Given the description of an element on the screen output the (x, y) to click on. 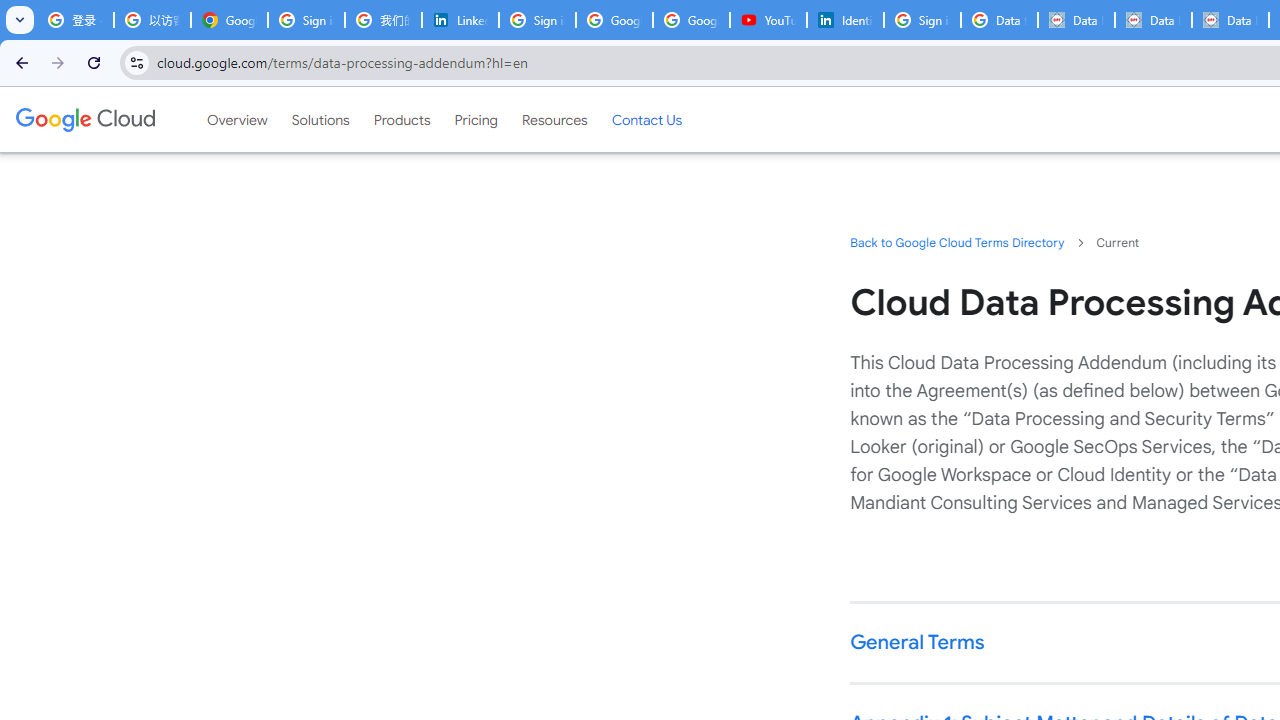
Pricing (476, 119)
LinkedIn Privacy Policy (460, 20)
Data Privacy Framework (1152, 20)
Sign in - Google Accounts (306, 20)
